Given the description of an element on the screen output the (x, y) to click on. 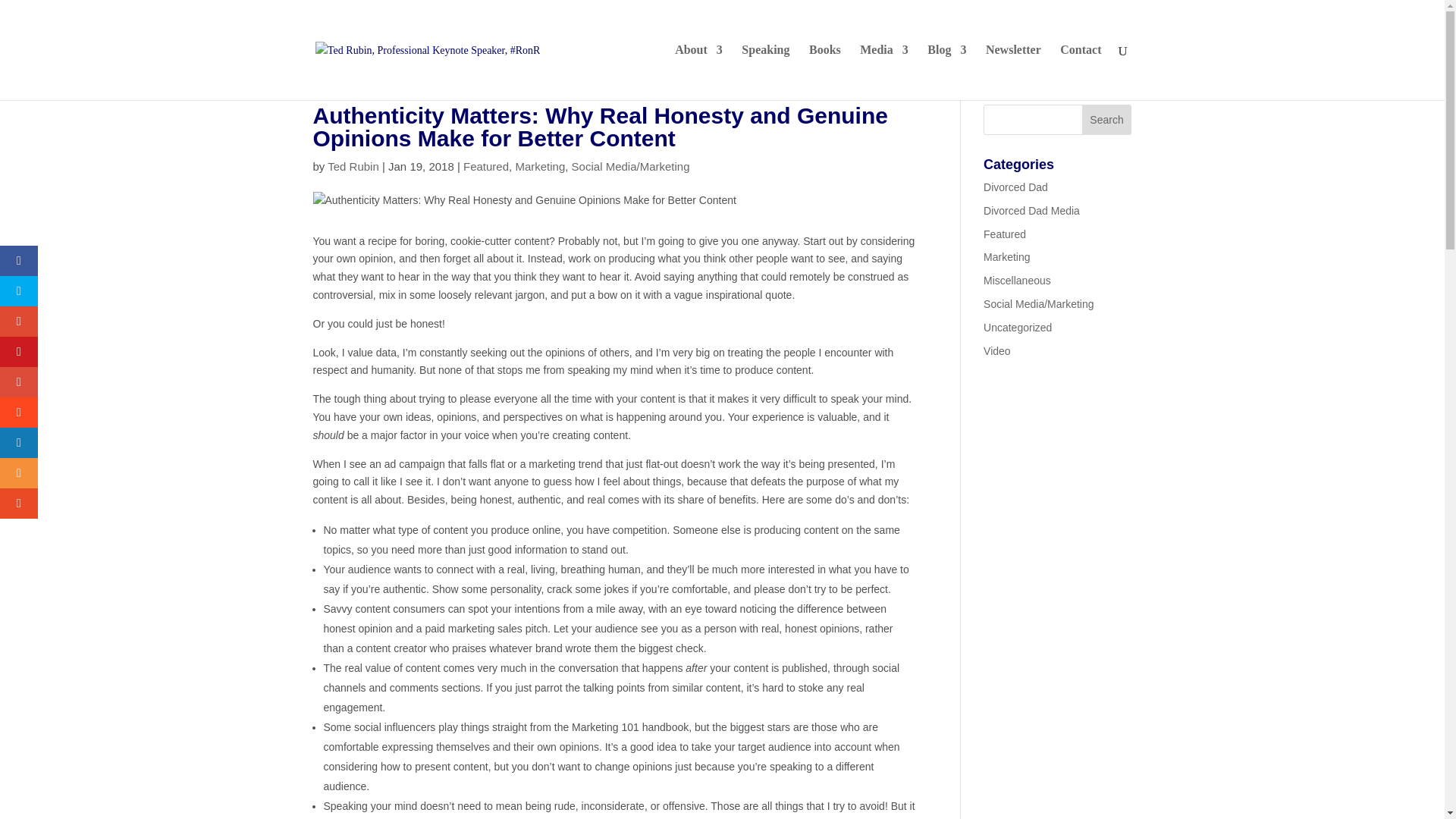
Search (1106, 119)
Featured (485, 165)
Posts by Ted Rubin (352, 165)
Search (1106, 119)
Newsletter (1013, 72)
Divorced Dad Media (1032, 210)
Divorced Dad (1016, 186)
Marketing (539, 165)
Featured (1005, 234)
Ted Rubin (352, 165)
